Given the description of an element on the screen output the (x, y) to click on. 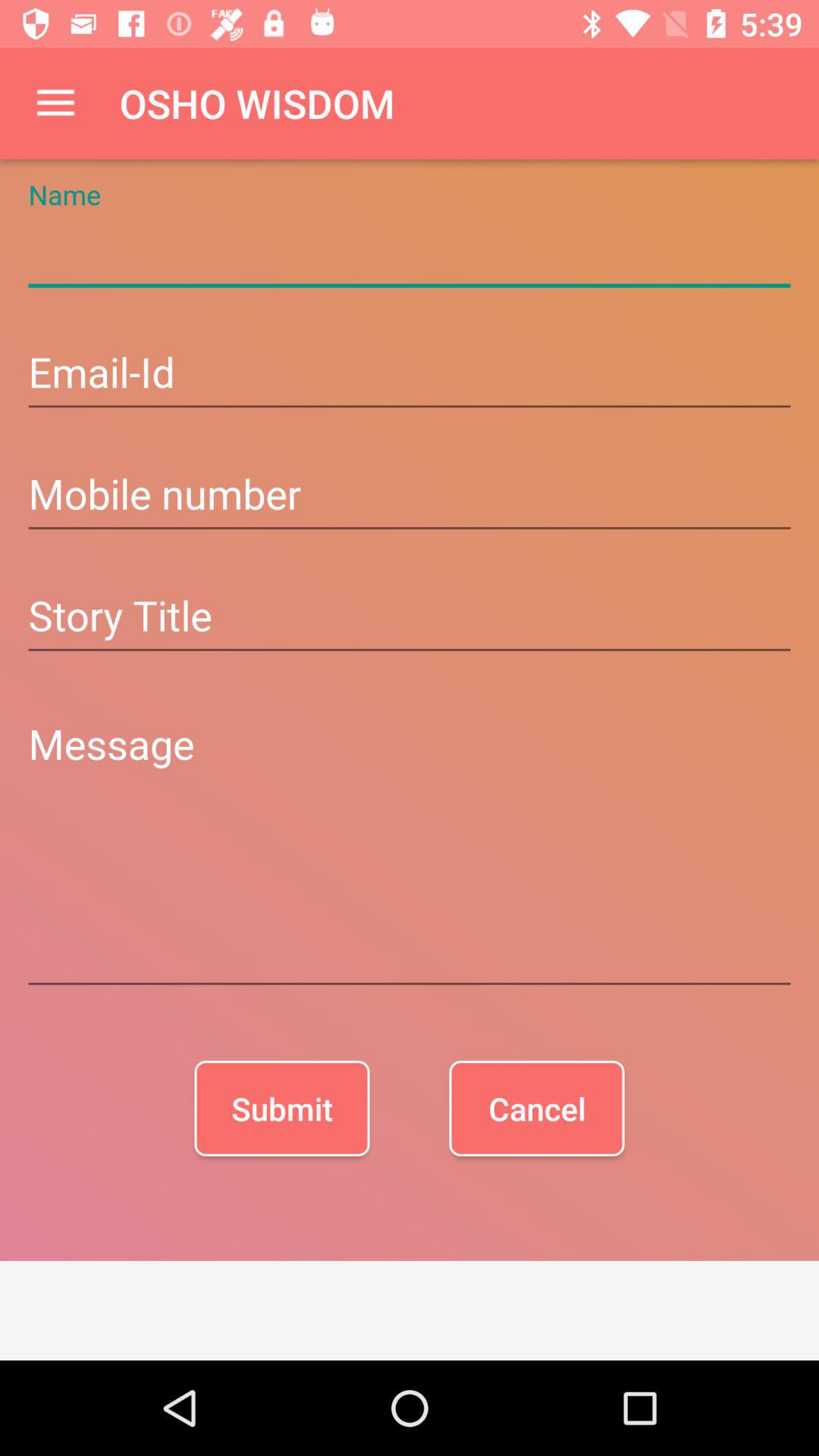
enter telephone number (409, 496)
